Given the description of an element on the screen output the (x, y) to click on. 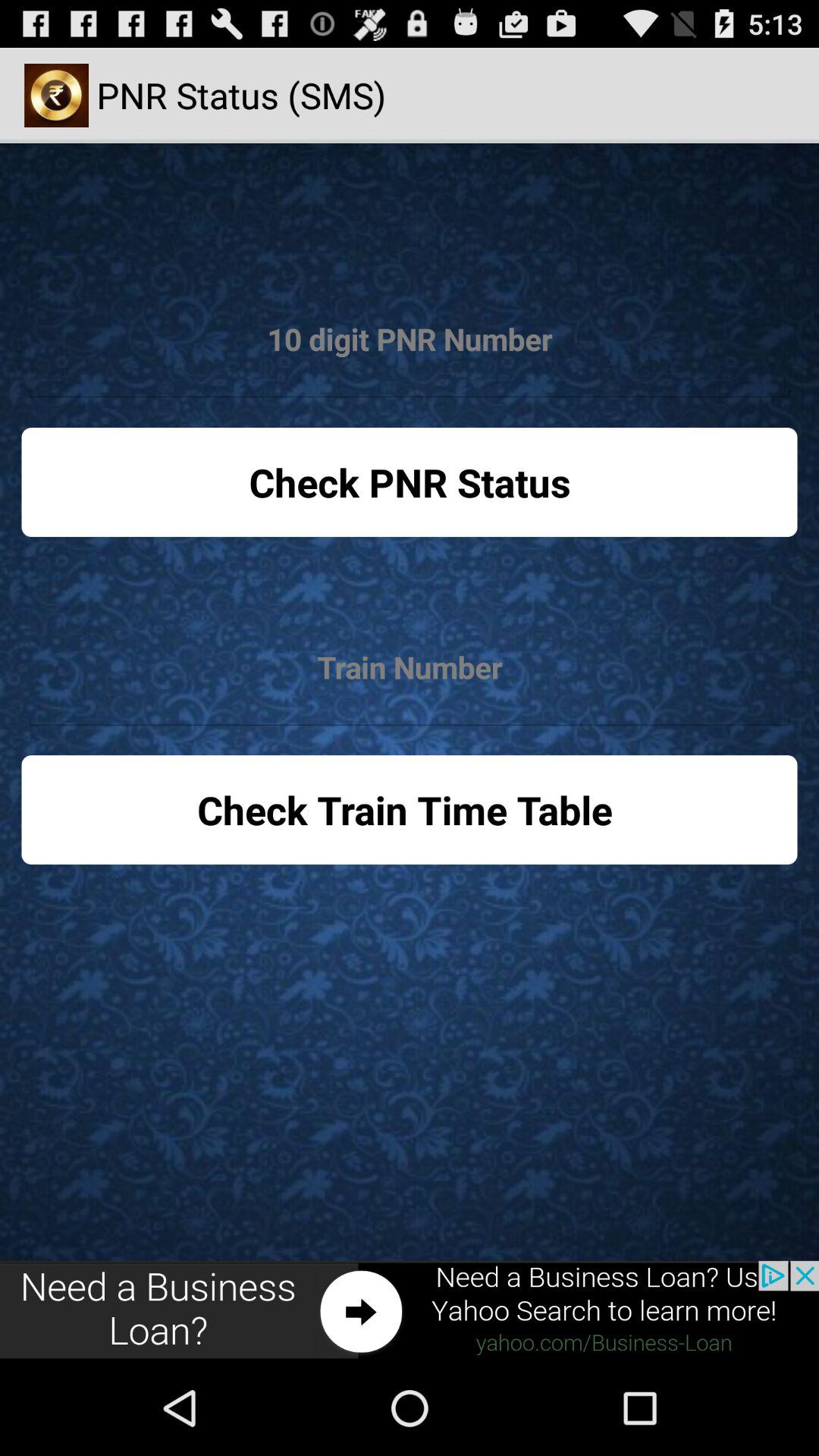
find train number (409, 667)
